Given the description of an element on the screen output the (x, y) to click on. 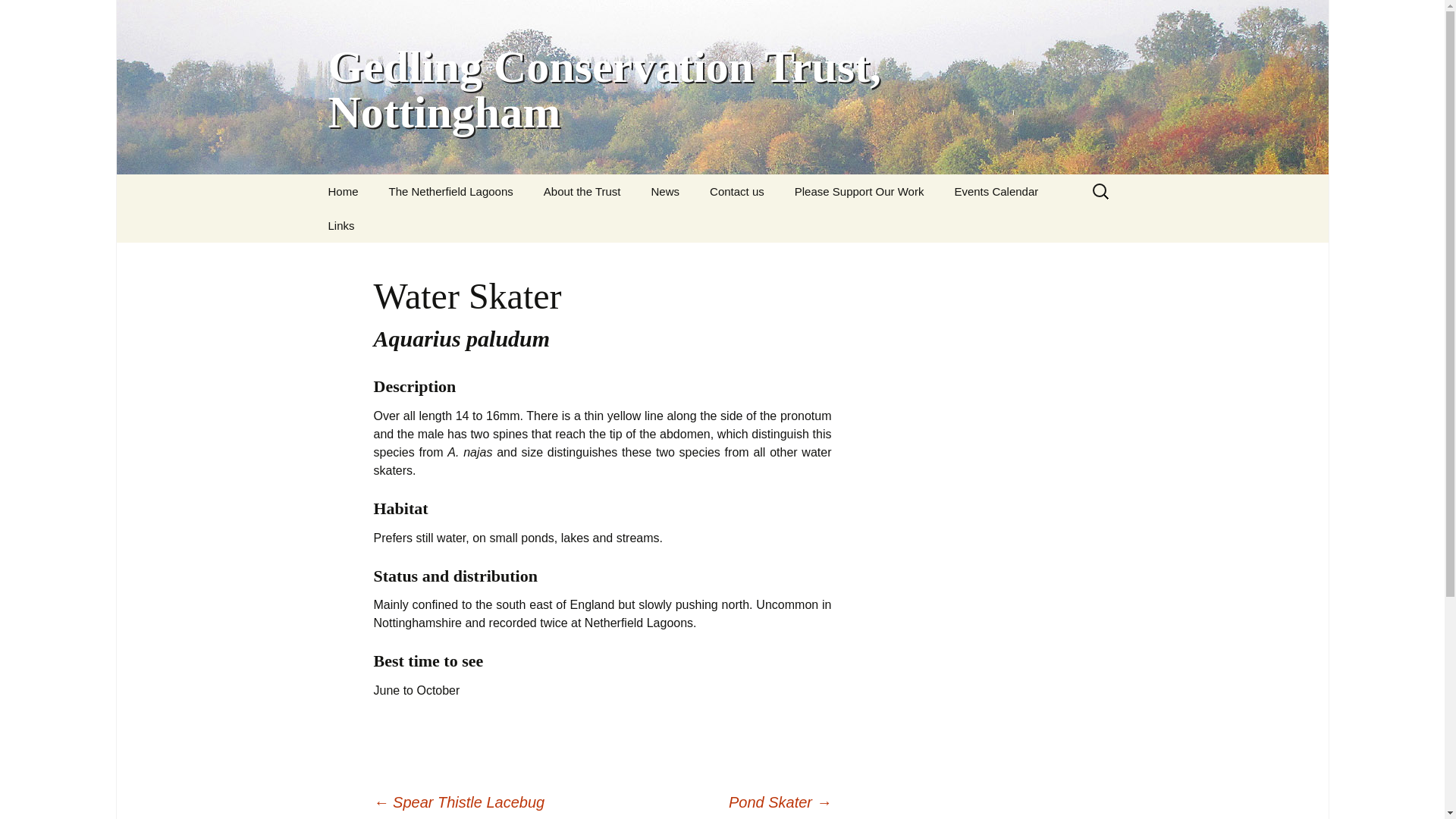
Home (342, 191)
Getting to the Lagoons (449, 225)
The Netherfield Lagoons (451, 191)
